Given the description of an element on the screen output the (x, y) to click on. 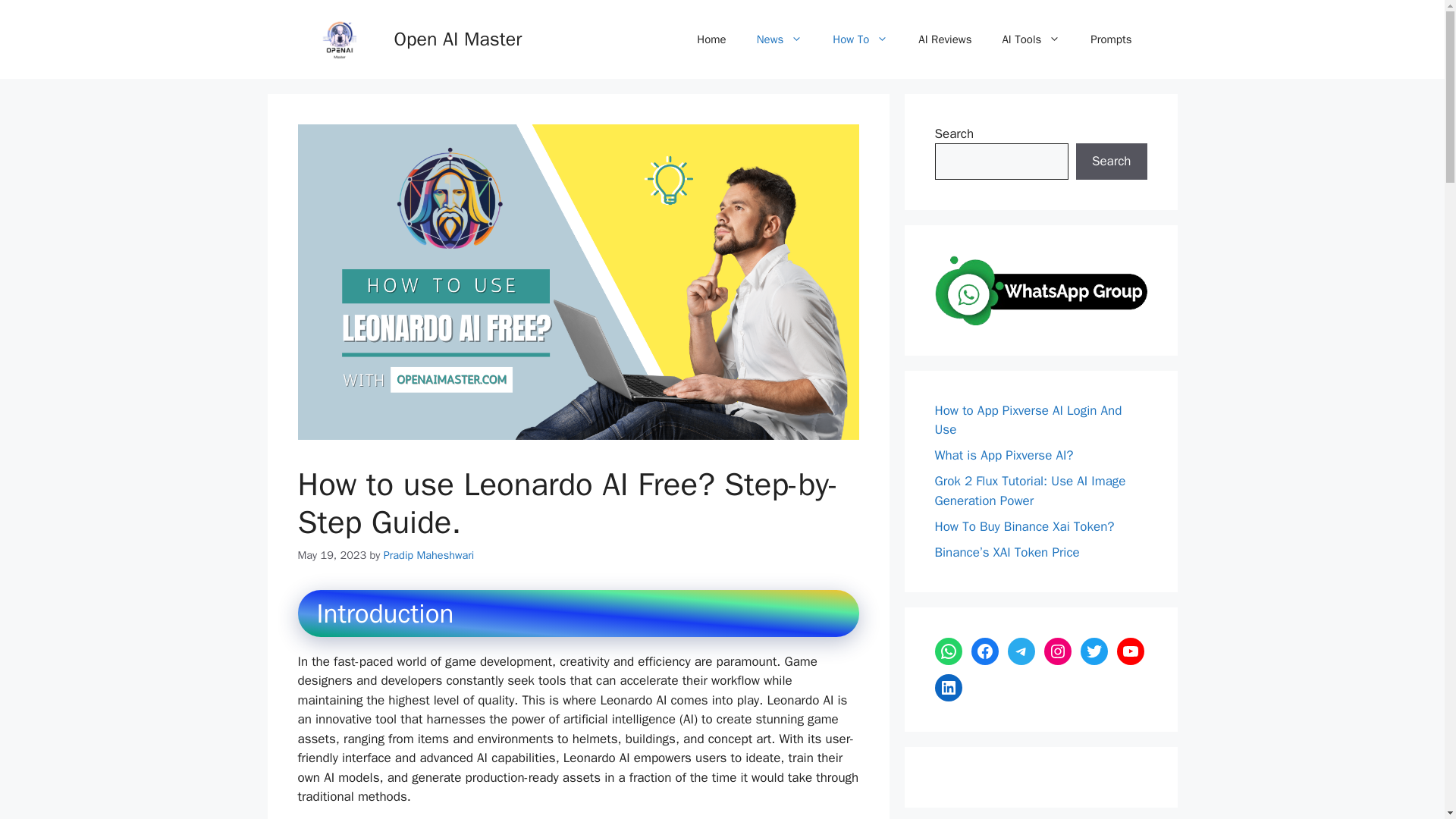
AI Reviews (944, 39)
Instagram (1056, 651)
Grok 2 Flux Tutorial: Use AI Image Generation Power (1029, 490)
Telegram (1020, 651)
Open AI Master (458, 38)
How to App Pixverse AI Login And Use (1027, 420)
News (779, 39)
Search (1111, 161)
Home (711, 39)
How To (859, 39)
